Given the description of an element on the screen output the (x, y) to click on. 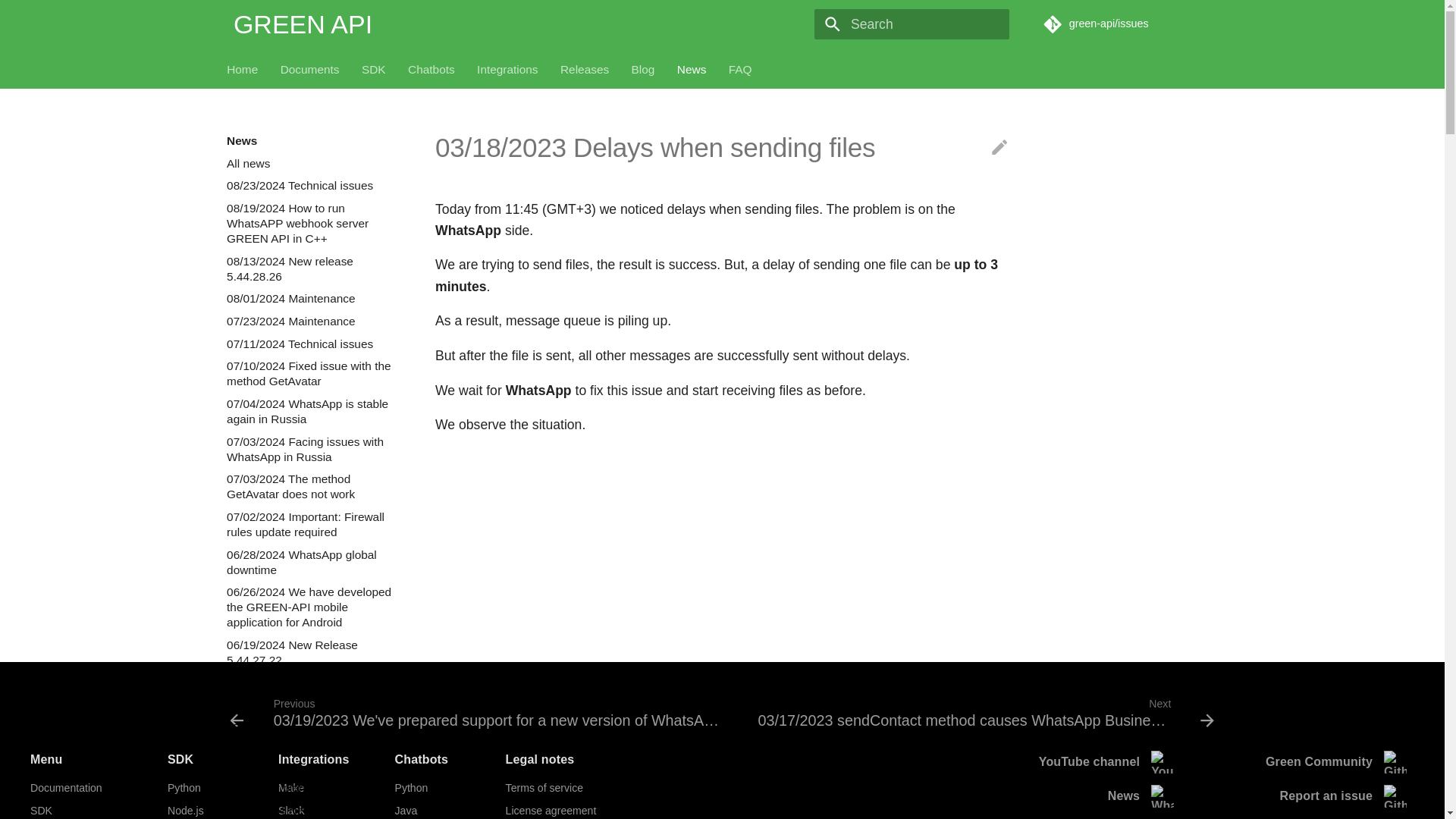
Go to repository (1129, 24)
News (691, 69)
SDK (373, 69)
Integrations (507, 69)
FAQ (740, 69)
Chatbots (430, 69)
Home (242, 69)
Releases (584, 69)
Edit this page (999, 147)
GREEN API (294, 24)
